Given the description of an element on the screen output the (x, y) to click on. 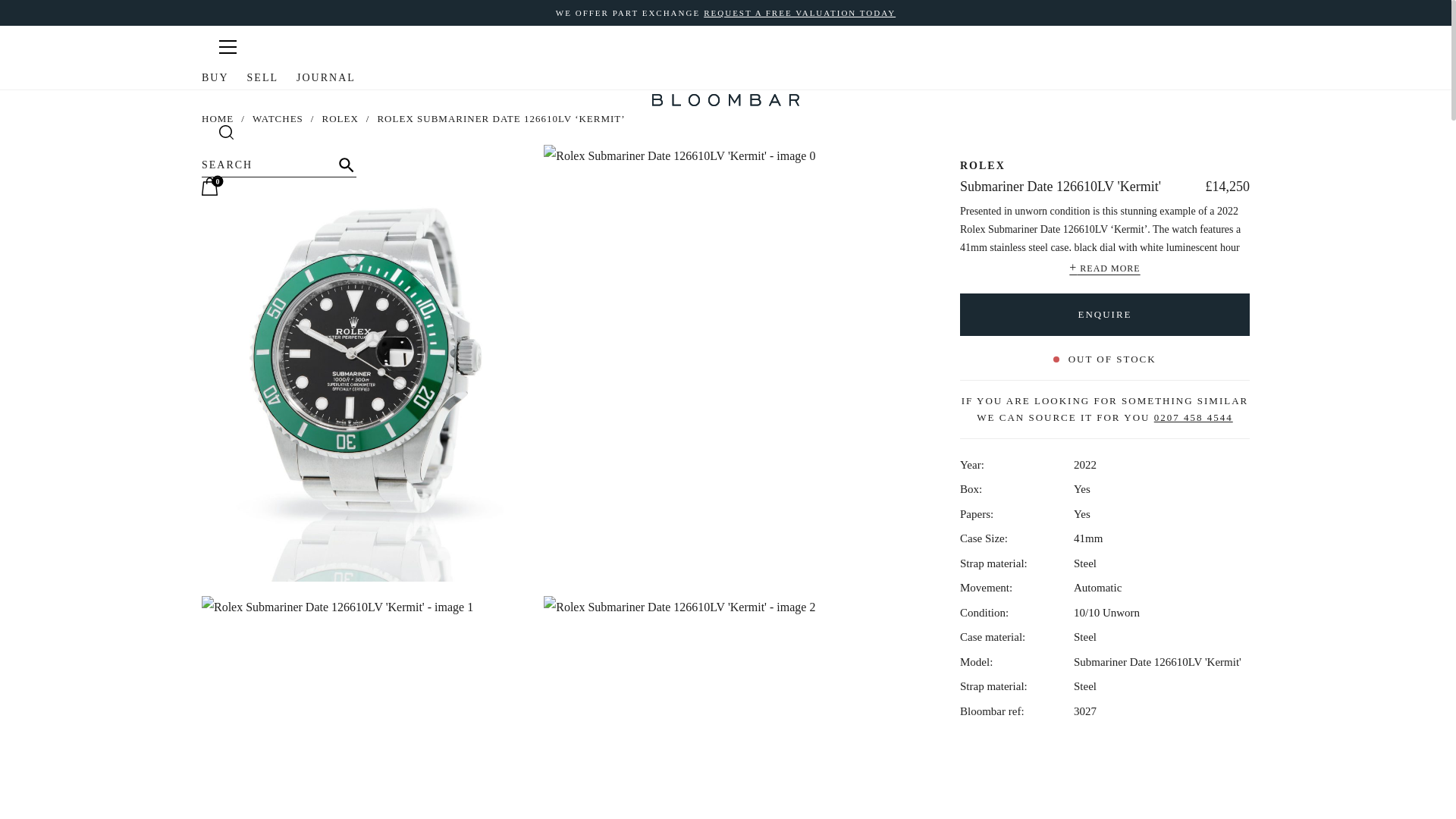
Rolex Submariner Date 126610LV 'Kermit' (337, 607)
ENQUIRE (1104, 313)
REQUEST A FREE VALUATION TODAY (799, 12)
JOURNAL (326, 77)
BUY (215, 77)
Rolex Submariner Date 126610LV 'Kermit' (679, 607)
ROLEX (339, 118)
HOME (217, 118)
0207 458 4544 (1193, 416)
Rolex Submariner Date 126610LV 'Kermit' (365, 726)
